Given the description of an element on the screen output the (x, y) to click on. 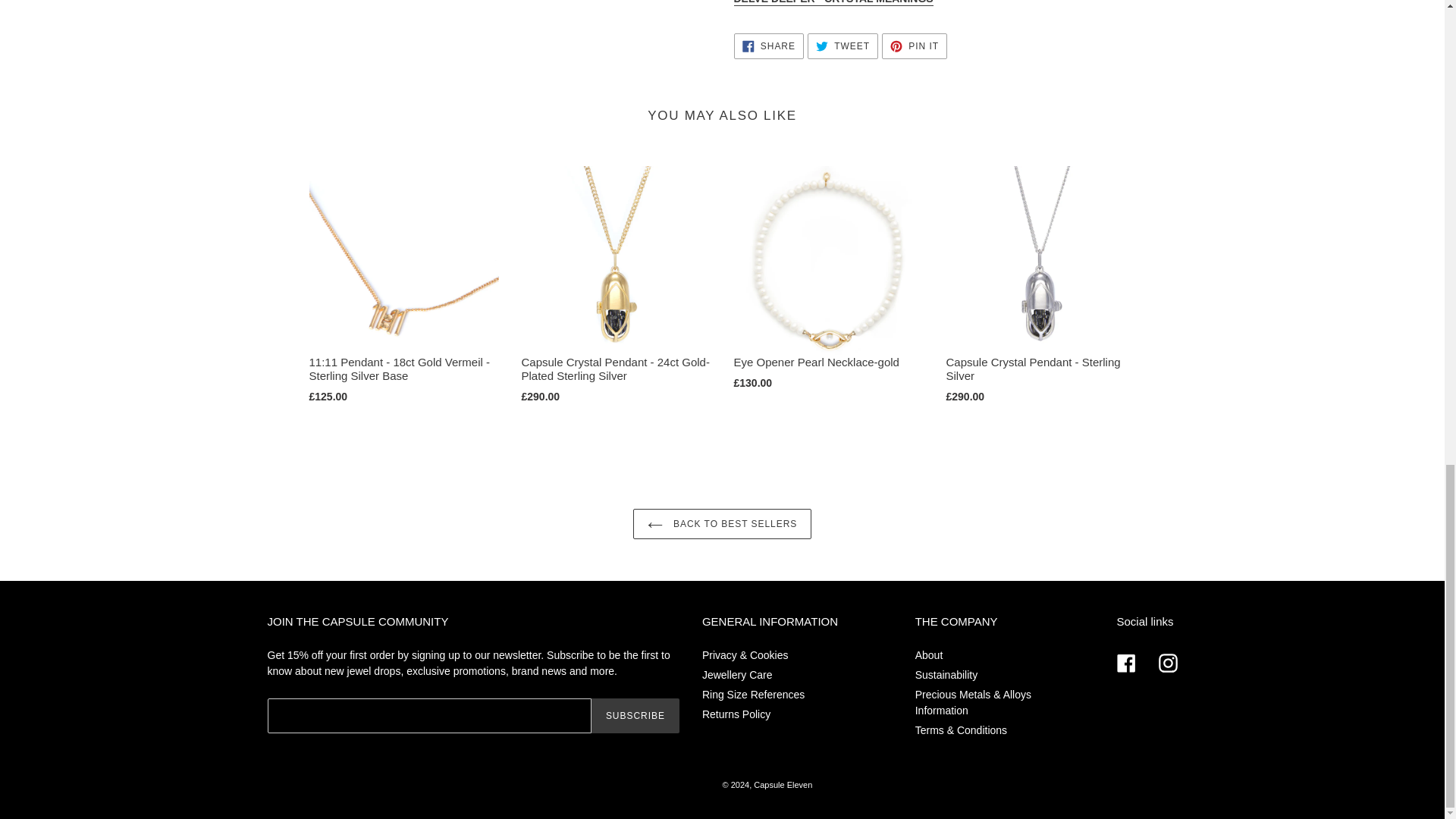
crystal meanings (833, 2)
